Given the description of an element on the screen output the (x, y) to click on. 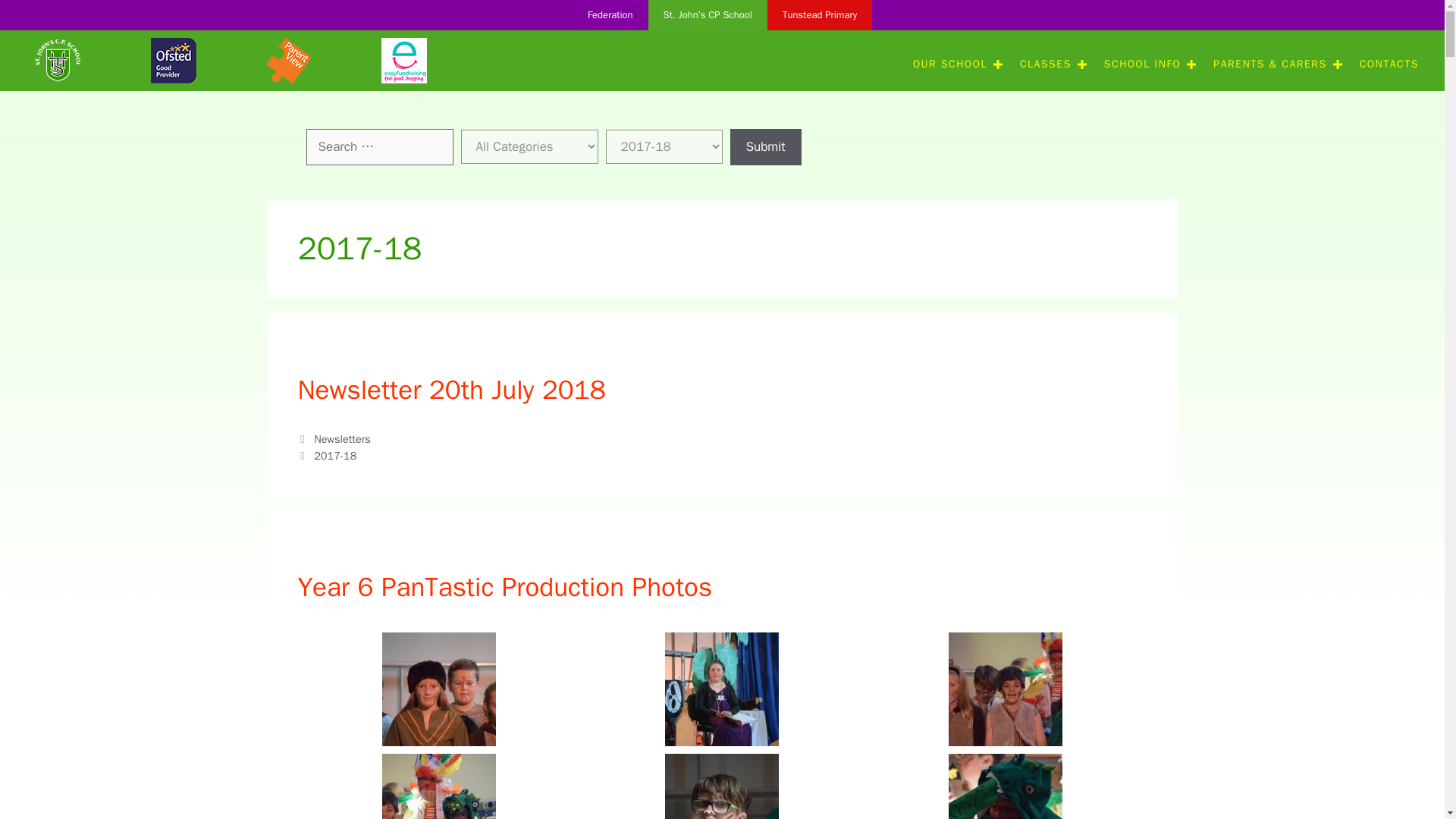
085 (57, 59)
EasyFundraising (403, 60)
Ofsted (173, 60)
CLASSES (1051, 63)
Tunstead Primary (819, 15)
OUR SCHOOL (955, 63)
Submit (764, 146)
SCHOOL INFO (1147, 63)
Federation (609, 15)
ParentView (288, 60)
